Given the description of an element on the screen output the (x, y) to click on. 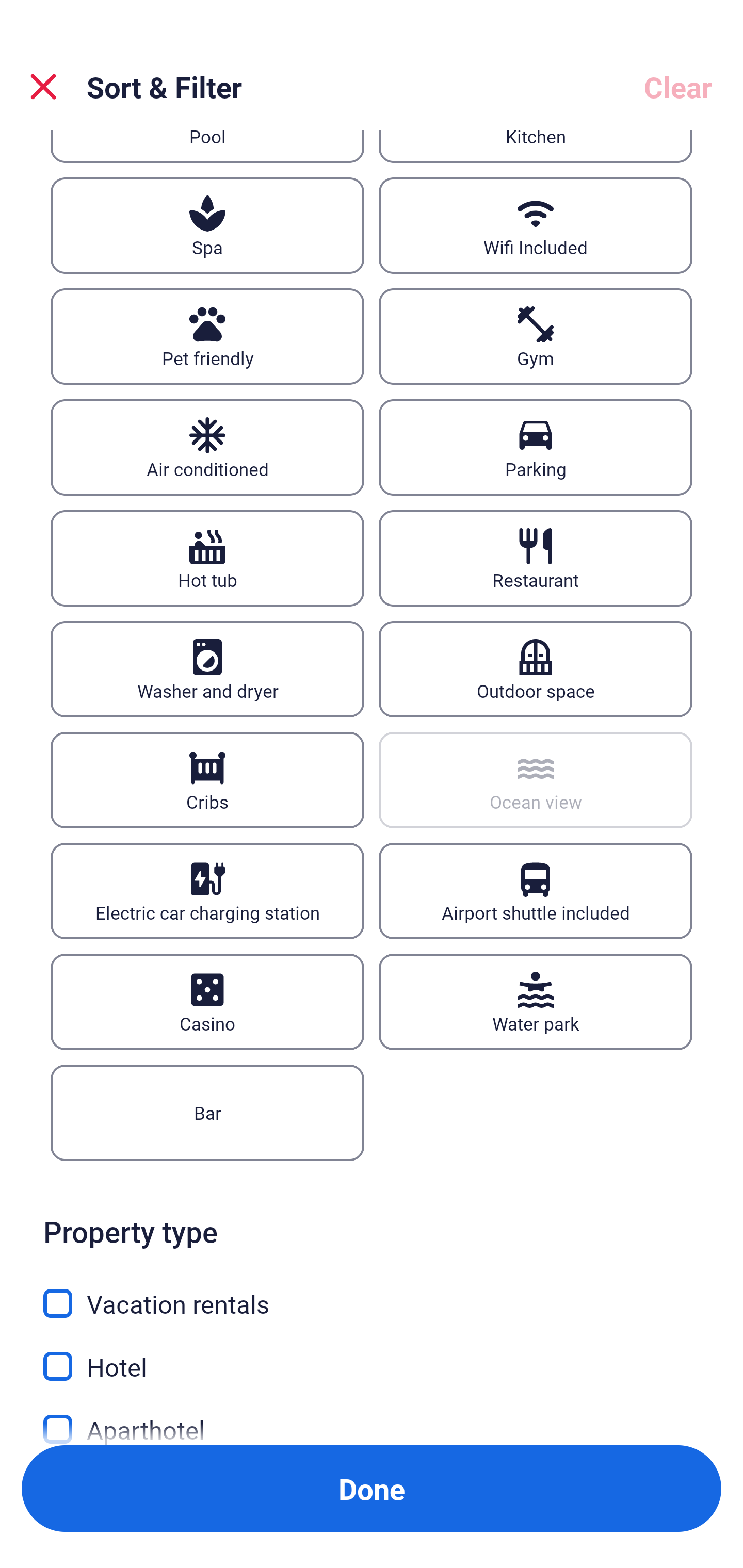
Close Sort and Filter (43, 86)
Clear (677, 86)
Spa (207, 225)
Wifi Included (535, 225)
Pet friendly (207, 336)
Gym (535, 336)
Air conditioned (207, 447)
Parking (535, 447)
Hot tub (207, 557)
Restaurant (535, 557)
Washer and dryer (207, 669)
Outdoor space (535, 669)
Cribs (207, 779)
Ocean view (535, 779)
Electric car charging station (207, 891)
Airport shuttle included (535, 891)
Casino (207, 1001)
Water park (535, 1001)
Bar (207, 1112)
Vacation rentals, Vacation rentals (371, 1291)
Hotel, Hotel (371, 1354)
Aparthotel, Aparthotel (371, 1415)
Apply and close Sort and Filter Done (371, 1488)
